Given the description of an element on the screen output the (x, y) to click on. 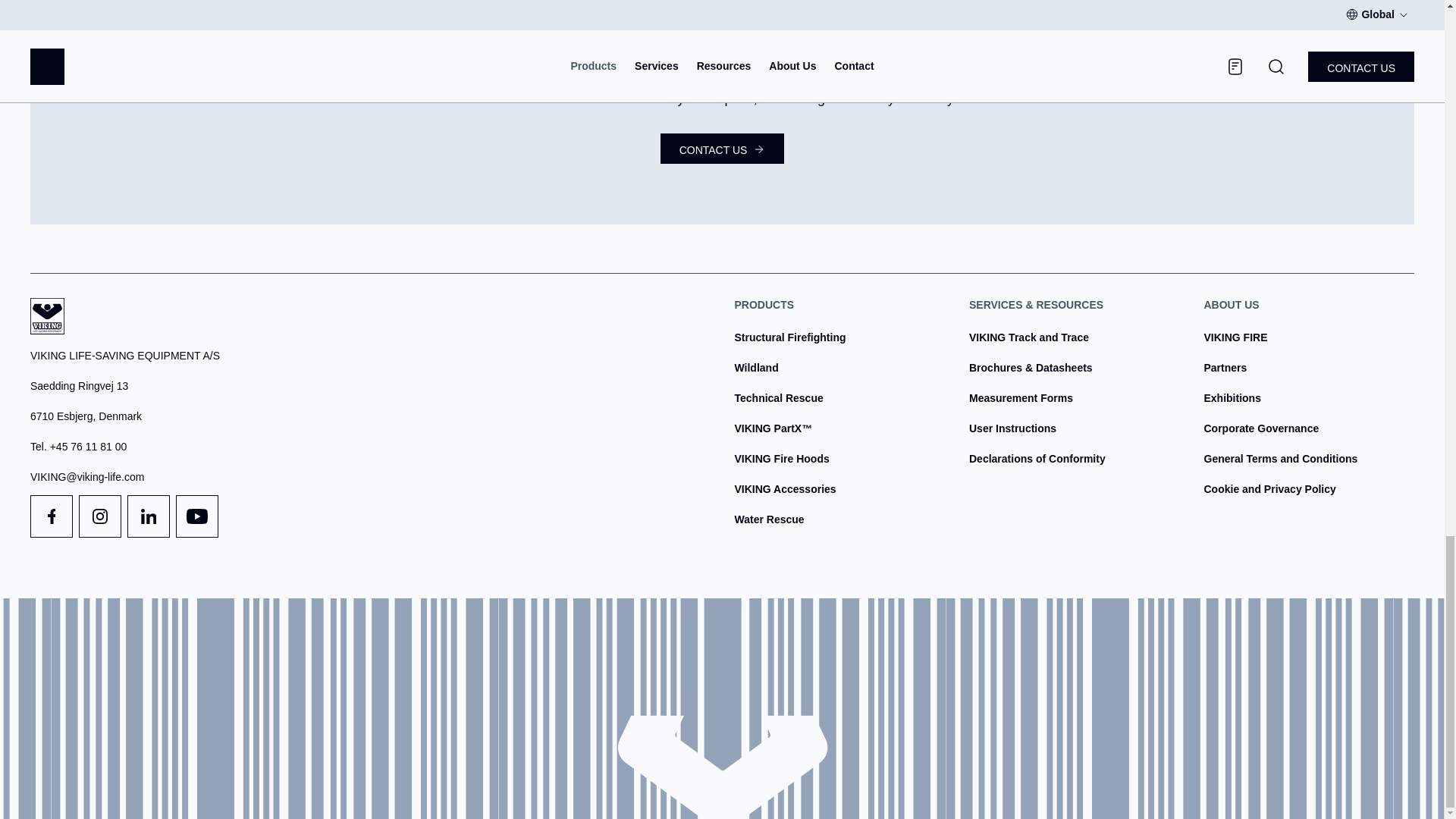
YouTube (197, 516)
Technische Hilfeleistung (777, 398)
Instagram (99, 516)
Wasserrettung (768, 519)
Facebook (51, 516)
LinkedIn (149, 516)
VIKING Flammschutzhaube (780, 458)
